Given the description of an element on the screen output the (x, y) to click on. 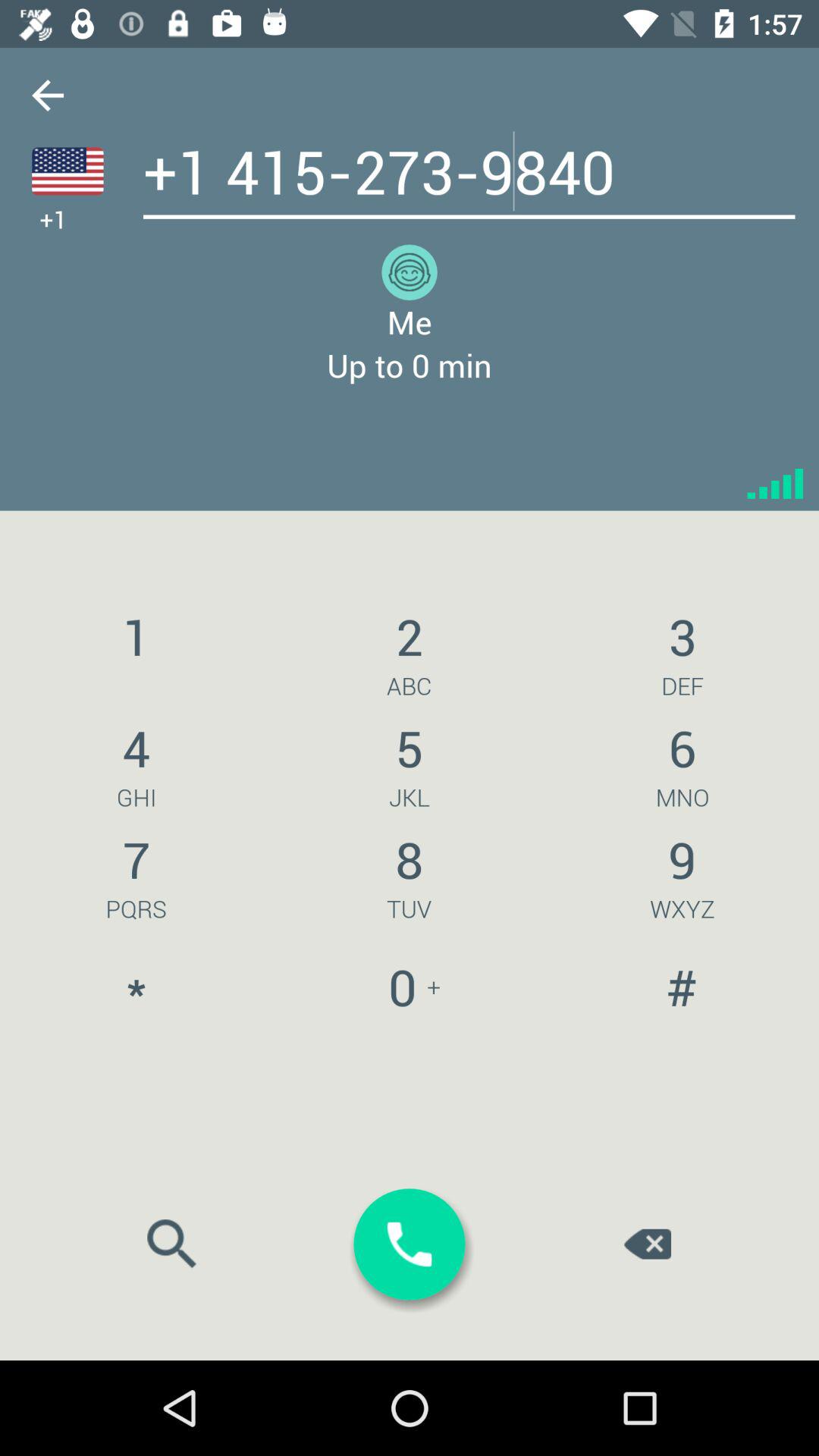
he can activate the simple voice command (67, 171)
